Given the description of an element on the screen output the (x, y) to click on. 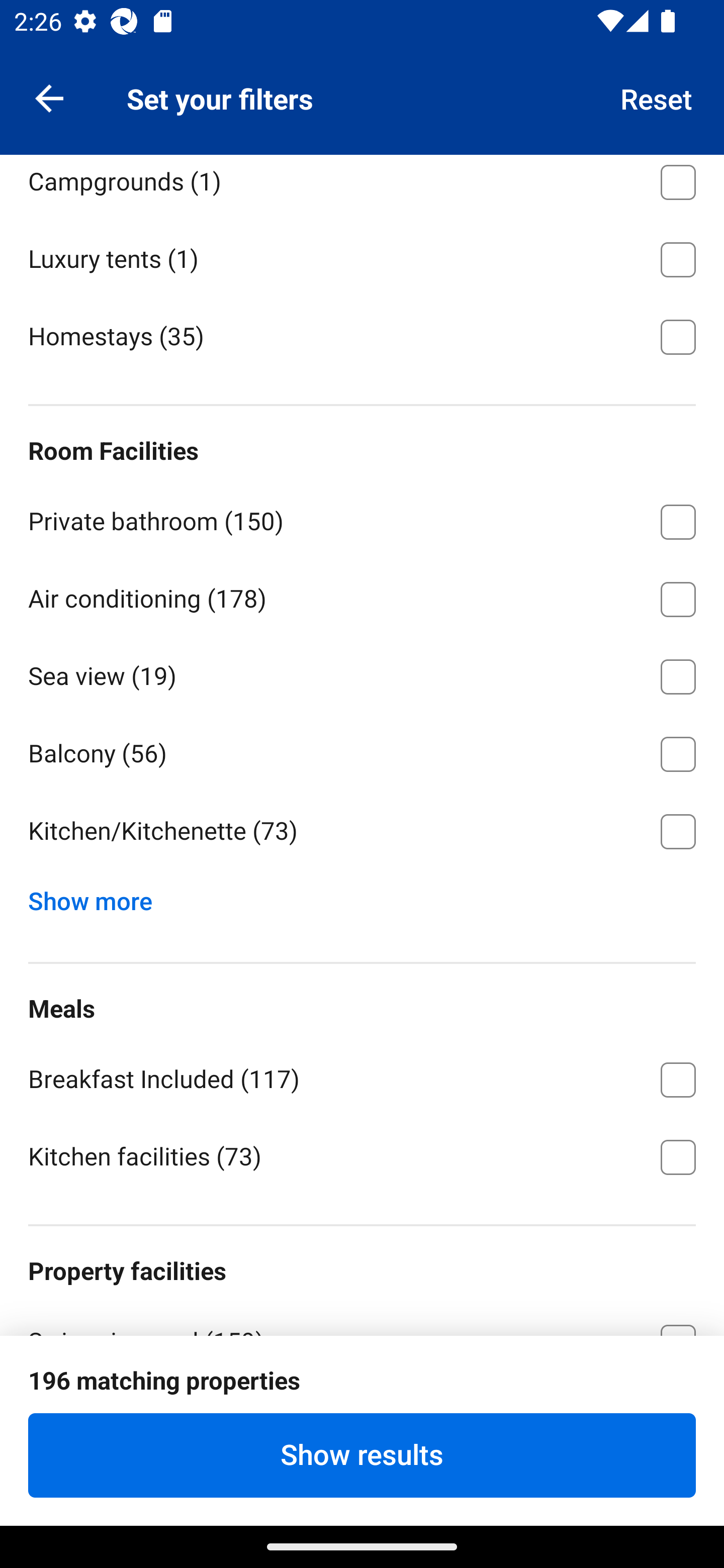
Navigate up (49, 97)
Reset (656, 97)
Hostels ⁦(11) (361, 100)
Campgrounds ⁦(1) (361, 186)
Luxury tents ⁦(1) (361, 255)
Homestays ⁦(35) (361, 335)
Private bathroom ⁦(150) (361, 517)
Air conditioning ⁦(178) (361, 595)
Sea view ⁦(19) (361, 673)
Balcony ⁦(56) (361, 750)
Kitchen/Kitchenette ⁦(73) (361, 831)
Show more (97, 896)
Breakfast Included ⁦(117) (361, 1076)
Kitchen facilities ⁦(73) (361, 1155)
Show results (361, 1454)
